Given the description of an element on the screen output the (x, y) to click on. 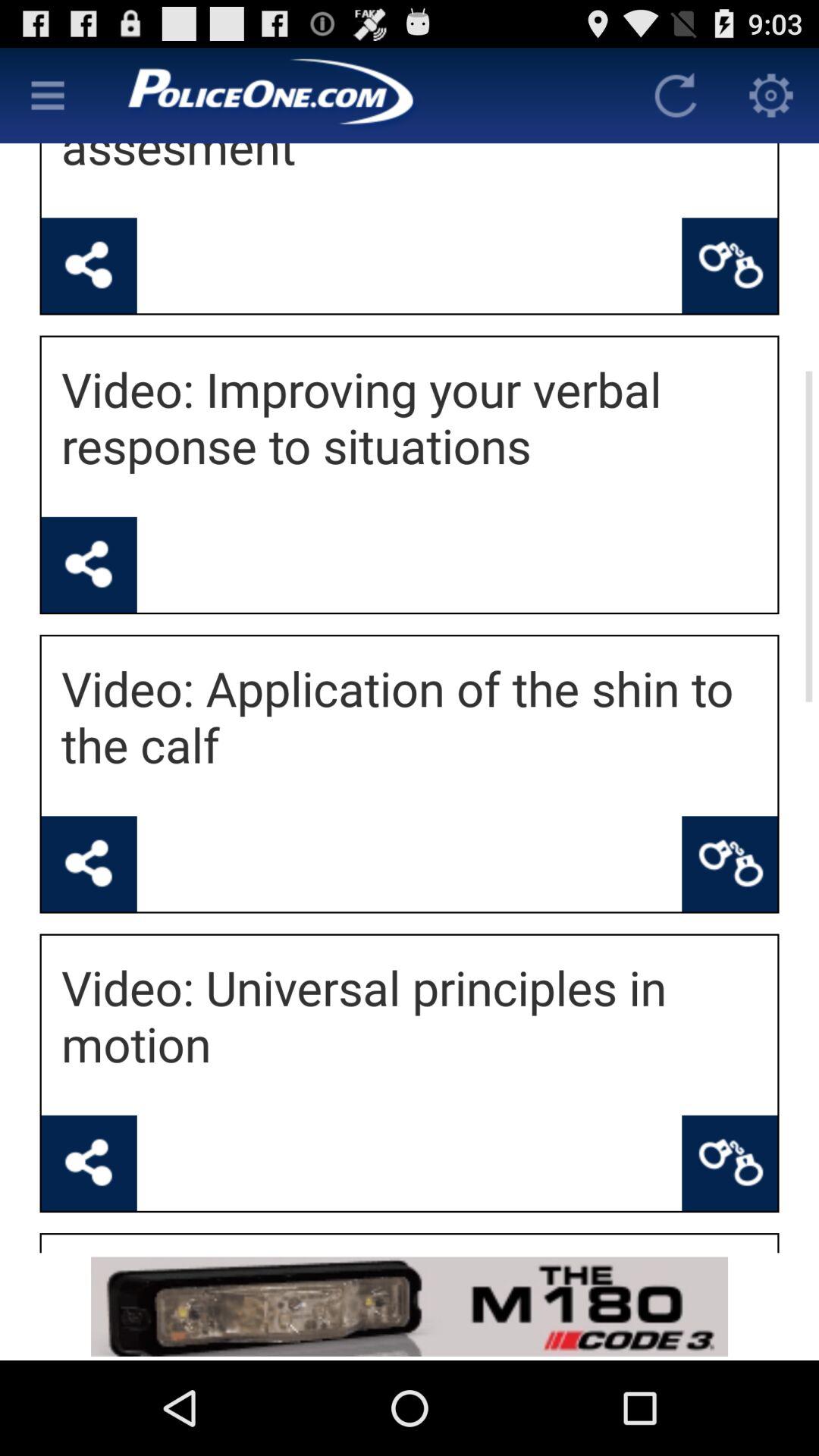
open settings (771, 95)
